Given the description of an element on the screen output the (x, y) to click on. 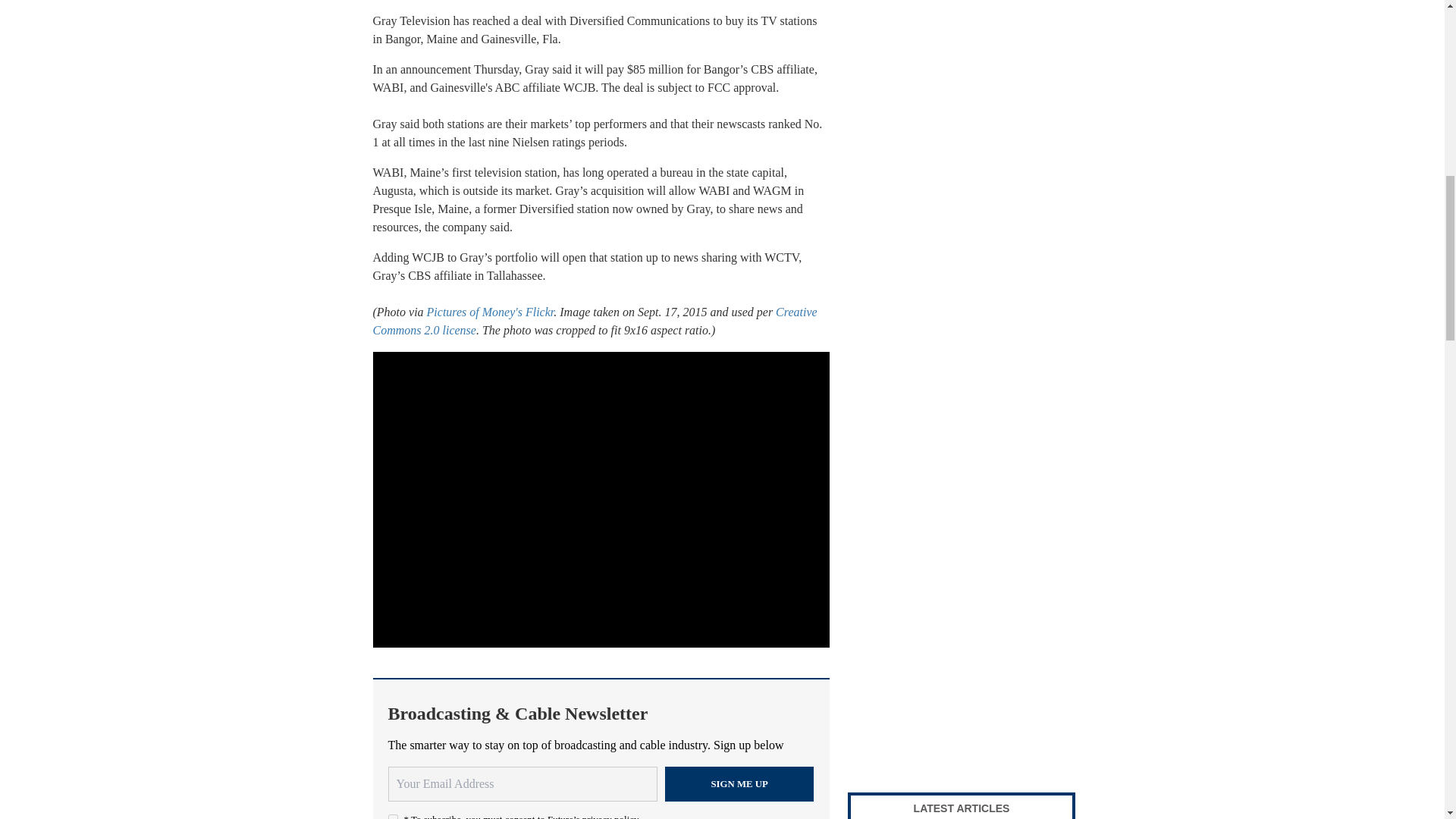
s Flickr (536, 311)
Sign me up (739, 783)
on (392, 816)
Pictures of Money (470, 311)
